Given the description of an element on the screen output the (x, y) to click on. 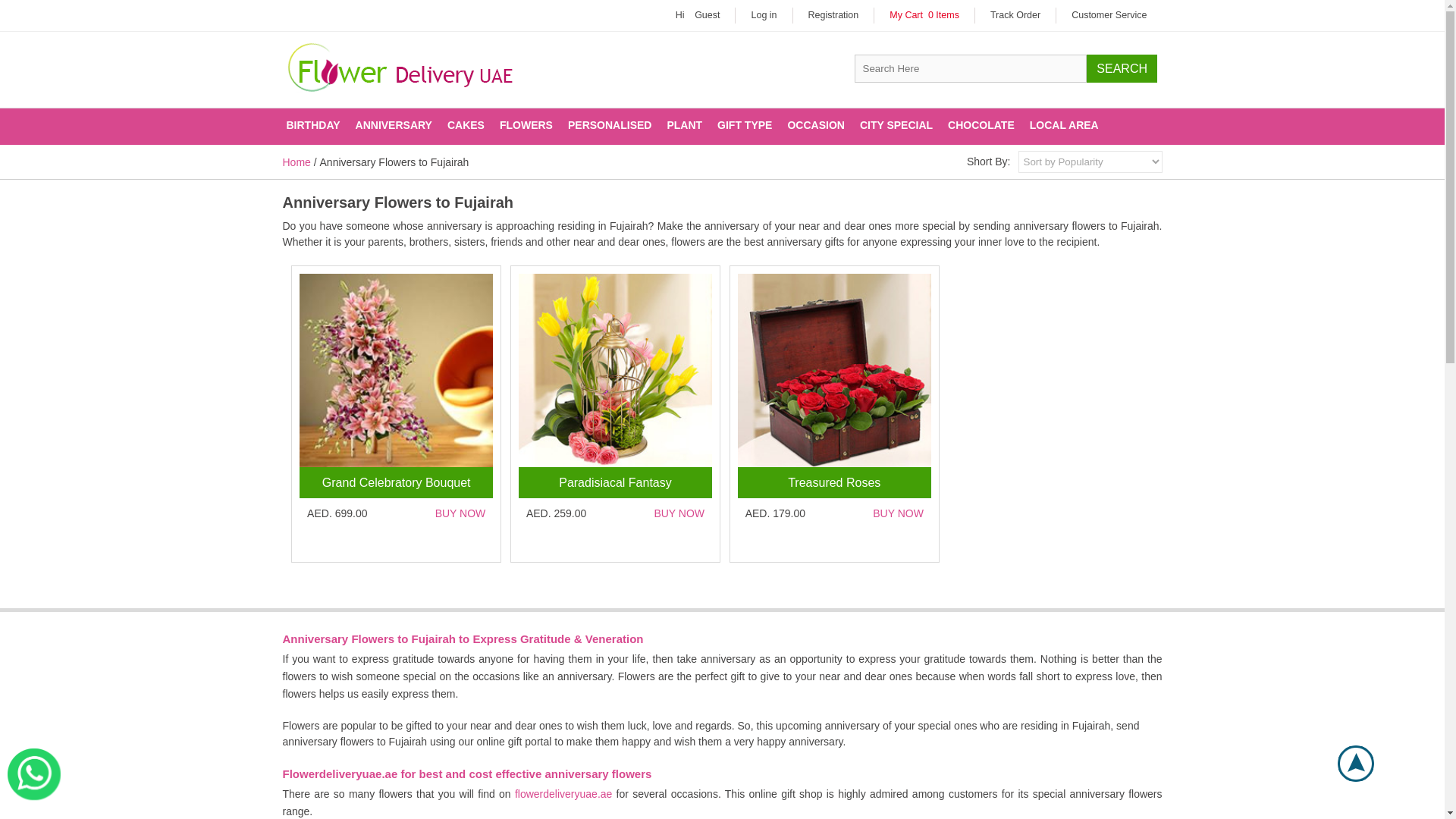
My Cart  0 Items (924, 15)
Customer Service (1109, 15)
Paradisiacal Fantasy (614, 369)
Treasured Roses (834, 369)
Track Order (1015, 15)
Search (1121, 68)
Guest (706, 15)
Search (1121, 68)
Grand Celebratory Bouquet (396, 369)
BIRTHDAY (313, 126)
Log in (763, 15)
Registration (833, 15)
